Given the description of an element on the screen output the (x, y) to click on. 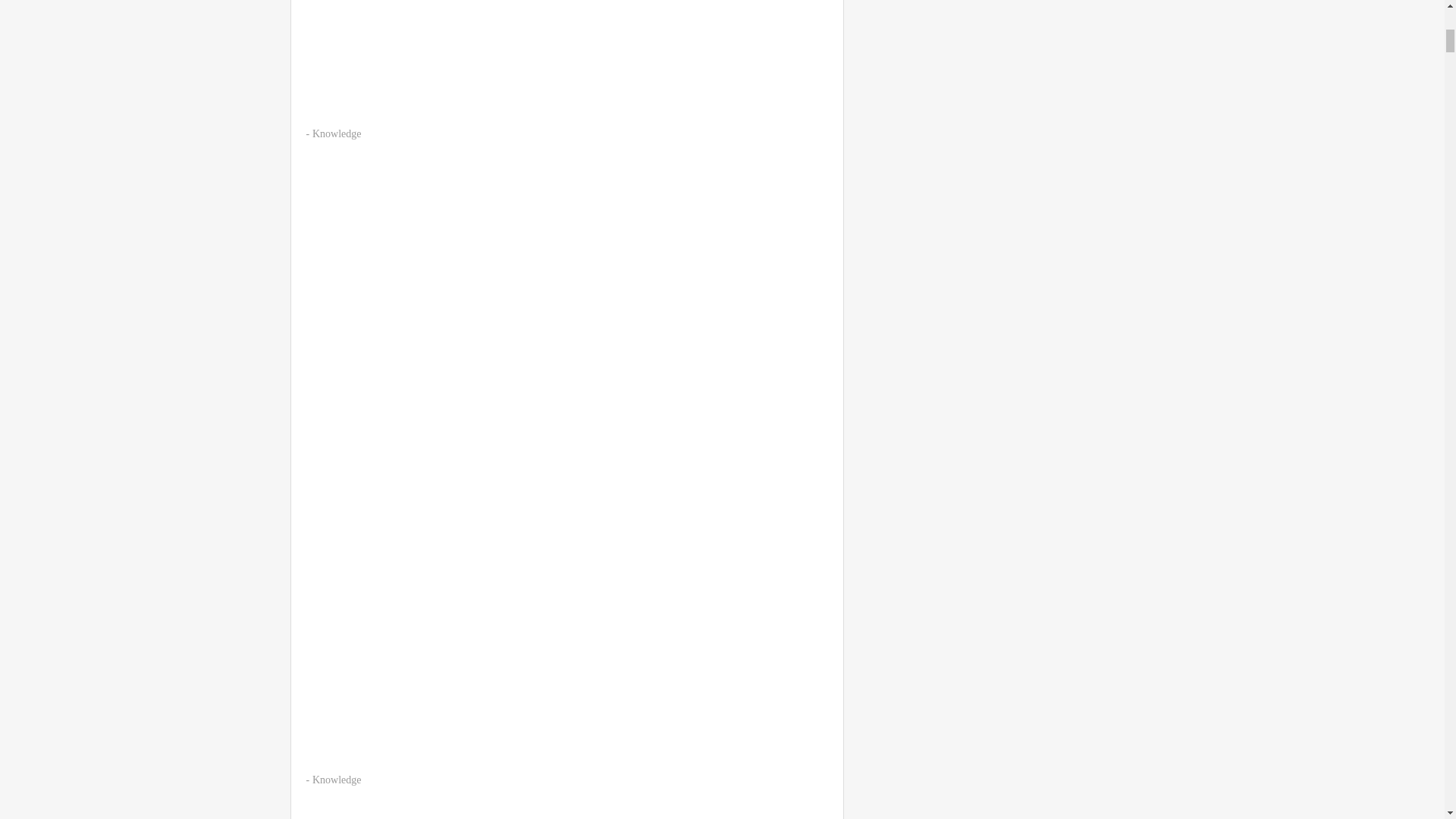
Knowledge (337, 133)
Knowledge (337, 779)
